Given the description of an element on the screen output the (x, y) to click on. 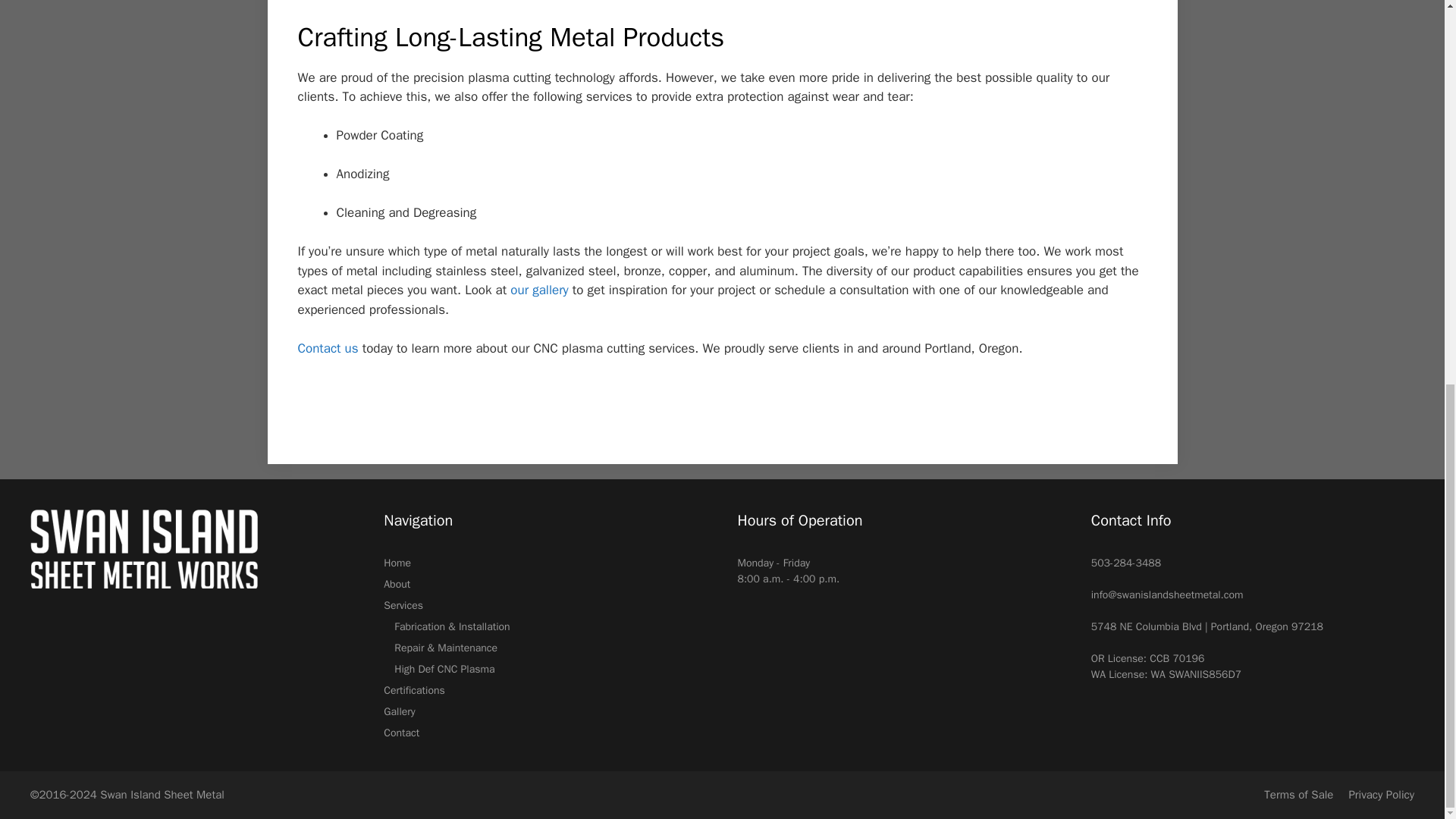
Gallery (399, 711)
503-284-3488 (1125, 562)
Services (403, 604)
Certifications (414, 689)
Contact (401, 732)
Home (397, 562)
Privacy Policy (1380, 794)
About (397, 584)
Terms of Sale (1298, 794)
Contact us (327, 348)
